Given the description of an element on the screen output the (x, y) to click on. 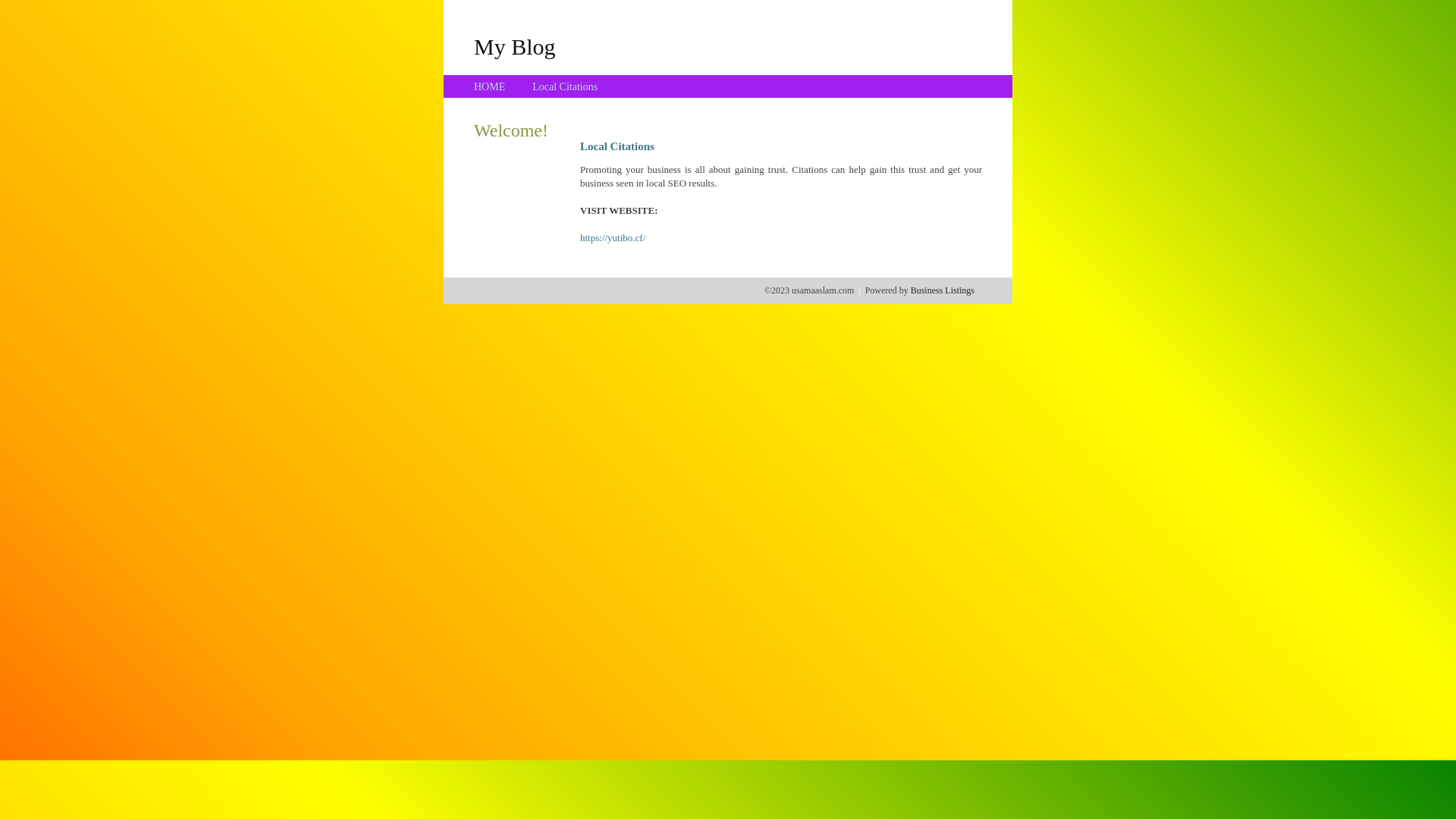
https://yutibo.cf/ Element type: text (612, 237)
HOME Element type: text (489, 86)
My Blog Element type: text (514, 46)
Local Citations Element type: text (564, 86)
Business Listings Element type: text (942, 290)
